Given the description of an element on the screen output the (x, y) to click on. 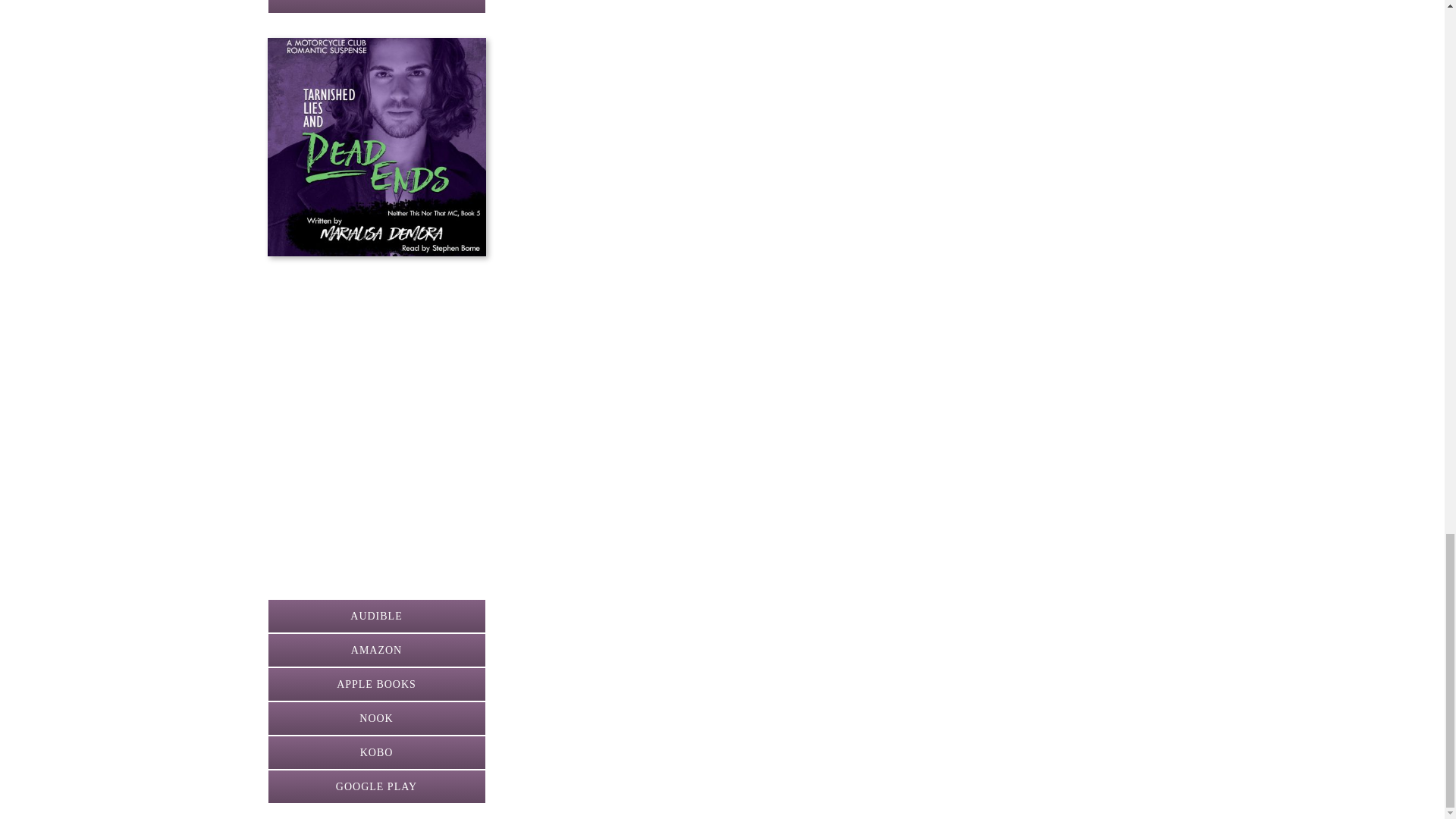
GOOGLE PLAY (375, 6)
GOOGLE PLAY (375, 786)
KOBO (375, 752)
AMAZON (375, 650)
AUDIBLE (375, 615)
NOOK (375, 718)
APPLE BOOKS (375, 684)
